Given the description of an element on the screen output the (x, y) to click on. 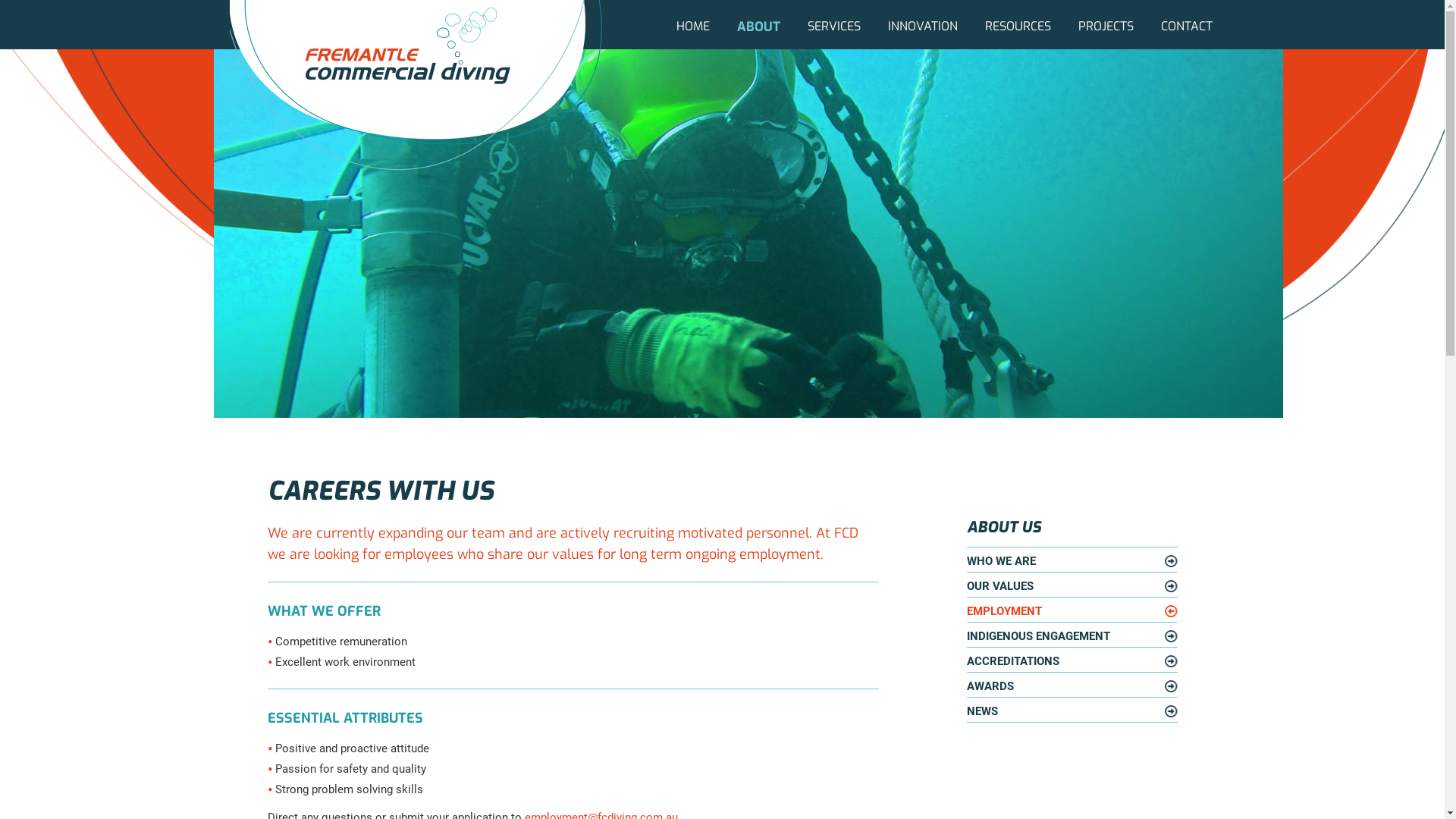
AWARDS Element type: text (1071, 686)
EMPLOYMENT Element type: text (1071, 611)
ACCREDITATIONS Element type: text (1071, 661)
INDIGENOUS ENGAGEMENT Element type: text (1071, 636)
OUR VALUES Element type: text (1071, 586)
NEWS Element type: text (1071, 711)
WHO WE ARE Element type: text (1071, 561)
Employment Element type: hover (748, 231)
